Given the description of an element on the screen output the (x, y) to click on. 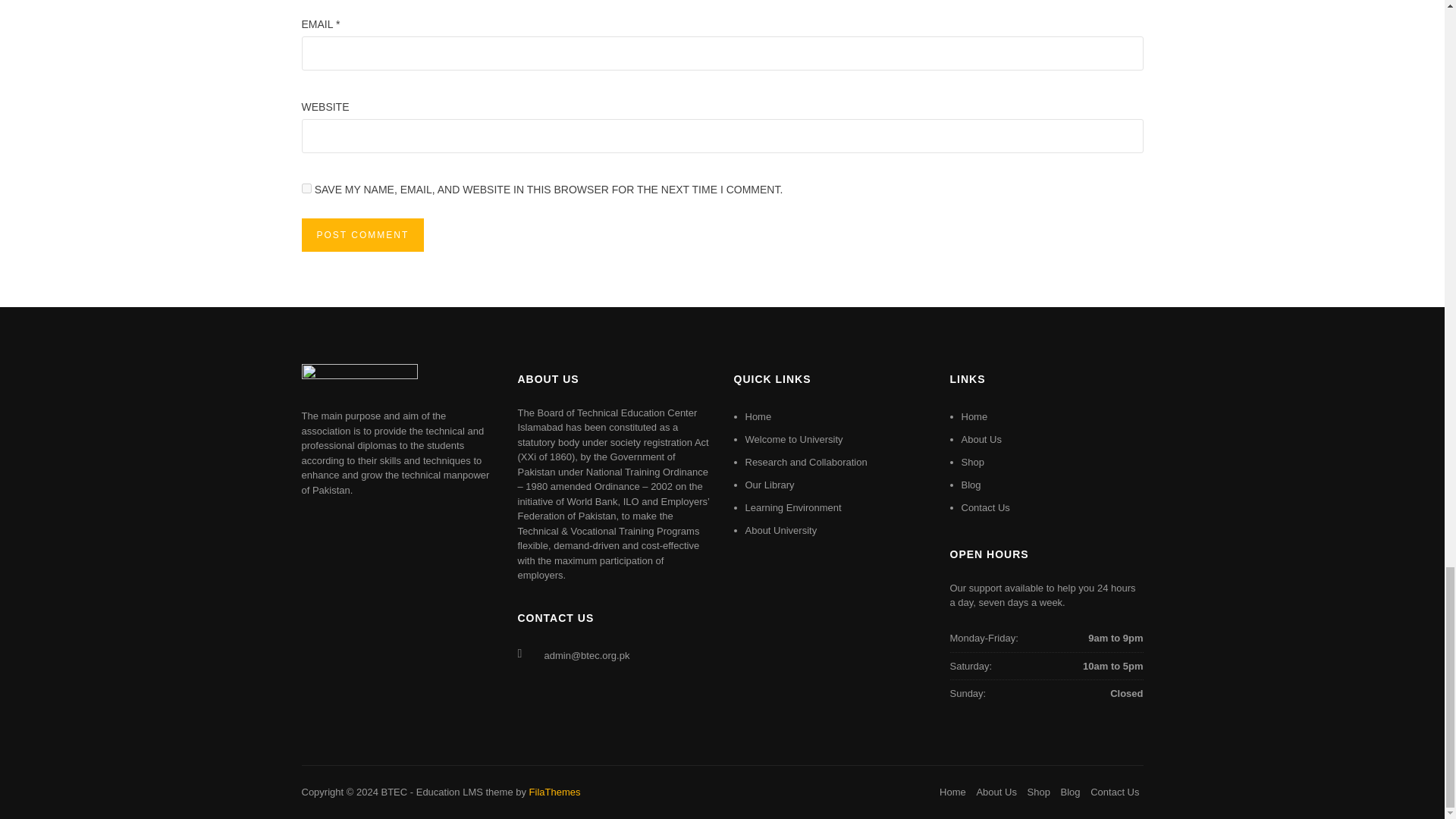
yes (306, 188)
Post Comment (363, 234)
About University (780, 530)
BTEC (393, 791)
Learning Environment (792, 507)
About Us (980, 439)
Home (952, 791)
Home (974, 416)
Post Comment (363, 234)
Welcome to University (793, 439)
Contact Us (985, 507)
Home (757, 416)
Research and Collaboration (805, 461)
Education LMS (449, 791)
Shop (972, 461)
